Given the description of an element on the screen output the (x, y) to click on. 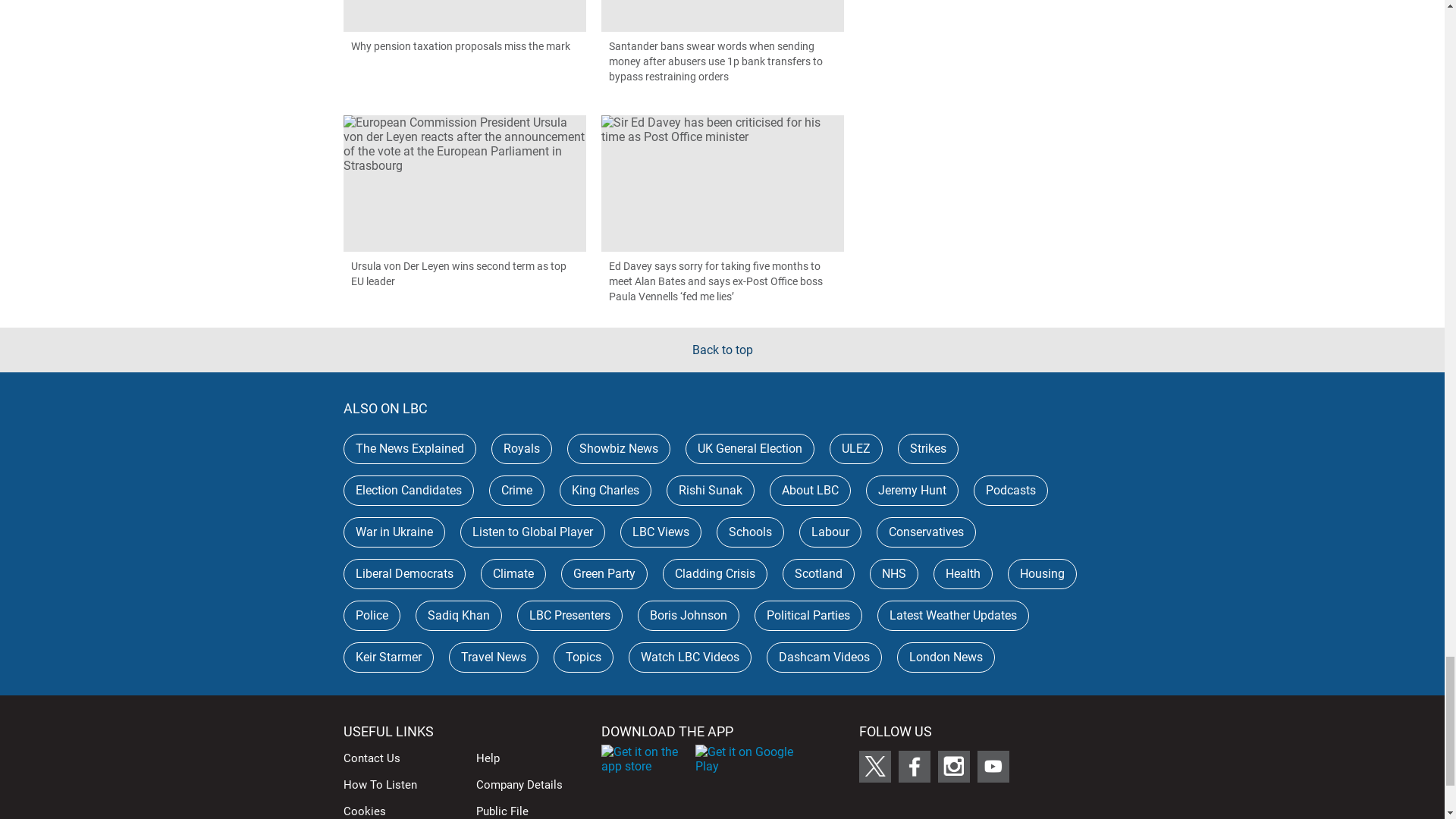
Follow LBC on Youtube (992, 766)
Follow LBC on Facebook (914, 766)
Follow LBC on Instagram (953, 766)
Follow LBC on X (874, 766)
Back to top (721, 350)
